Given the description of an element on the screen output the (x, y) to click on. 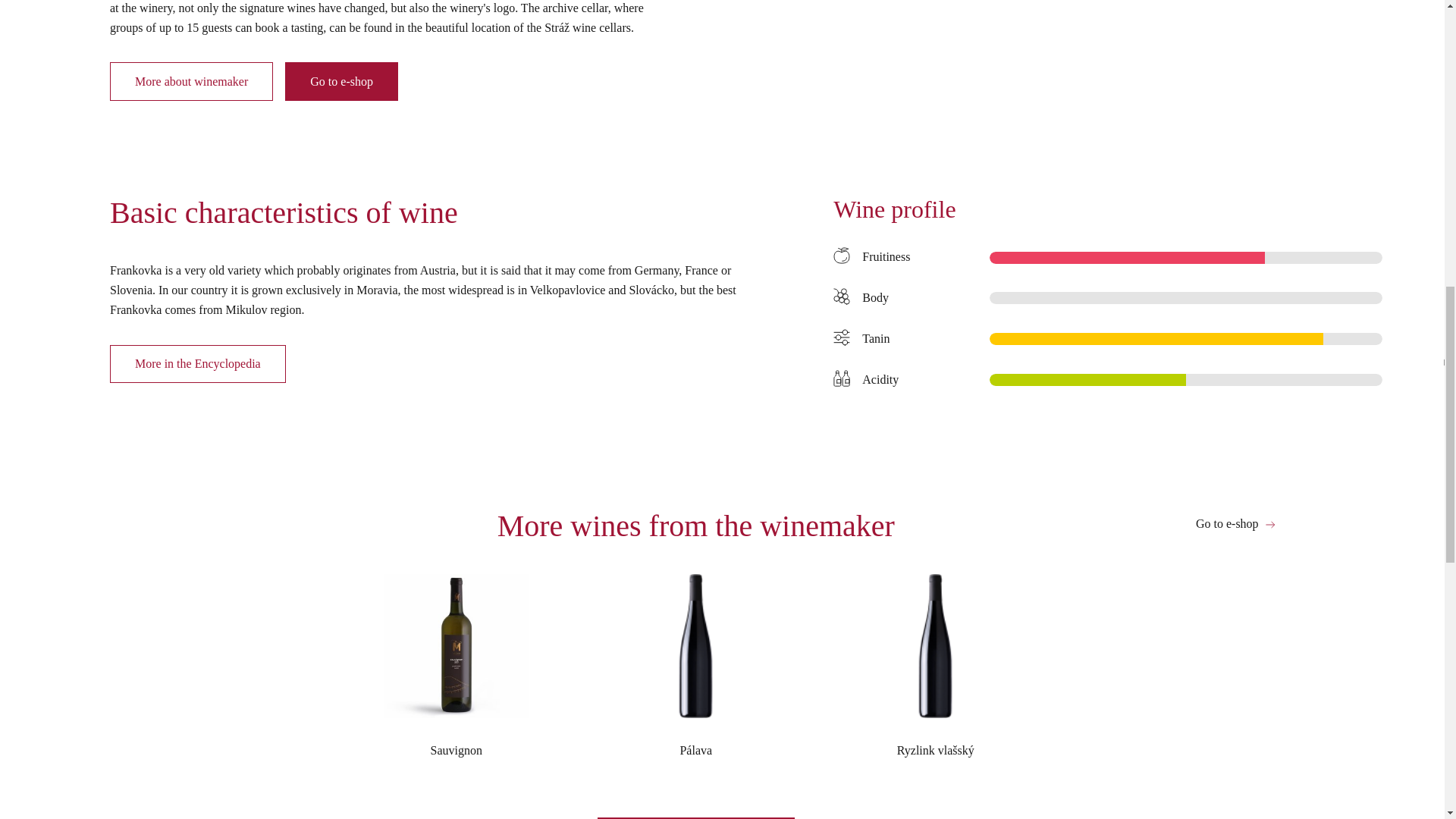
More about winemaker (191, 81)
Go to e-shop (341, 81)
More in the Encyclopedia (197, 363)
Sauvignon (456, 671)
Go to e-shop (1235, 523)
